Given the description of an element on the screen output the (x, y) to click on. 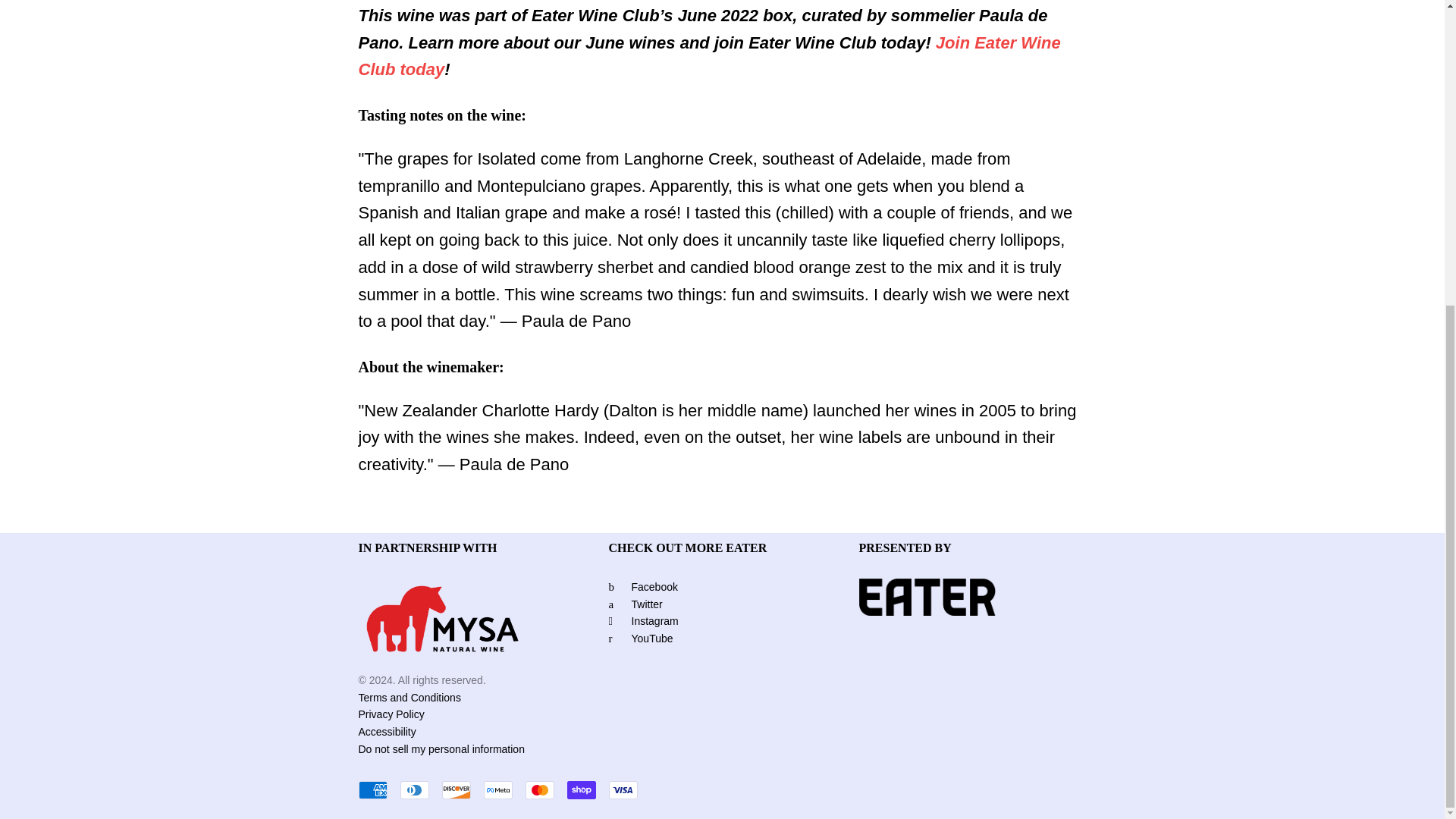
Terms and Conditions (503, 697)
Facebook (642, 586)
Accessibility (503, 732)
Join Eater Wine Club today (708, 56)
Privacy Policy (503, 714)
YouTube (640, 638)
Instagram (643, 621)
Twitter (635, 604)
